Given the description of an element on the screen output the (x, y) to click on. 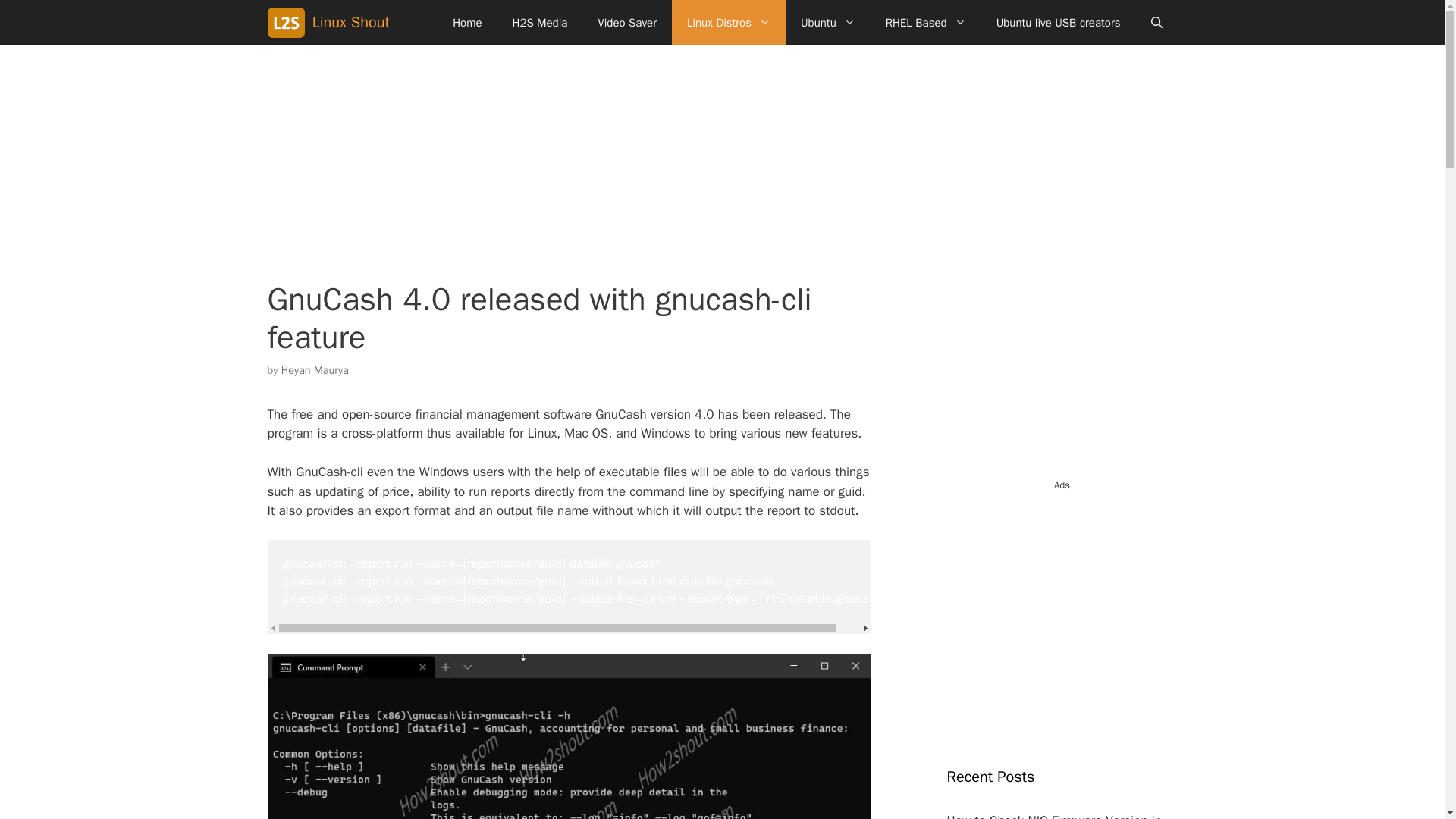
gnucash-cli for command line tasks under Windows (568, 736)
Video Saver (626, 22)
Linux Distros (728, 22)
Linux Distros (728, 22)
Home (467, 22)
Linux Shout (351, 22)
Ubuntu Linux (828, 22)
H2S Media (540, 22)
Linux Shout (288, 22)
View all posts by Heyan Maurya (315, 369)
